Given the description of an element on the screen output the (x, y) to click on. 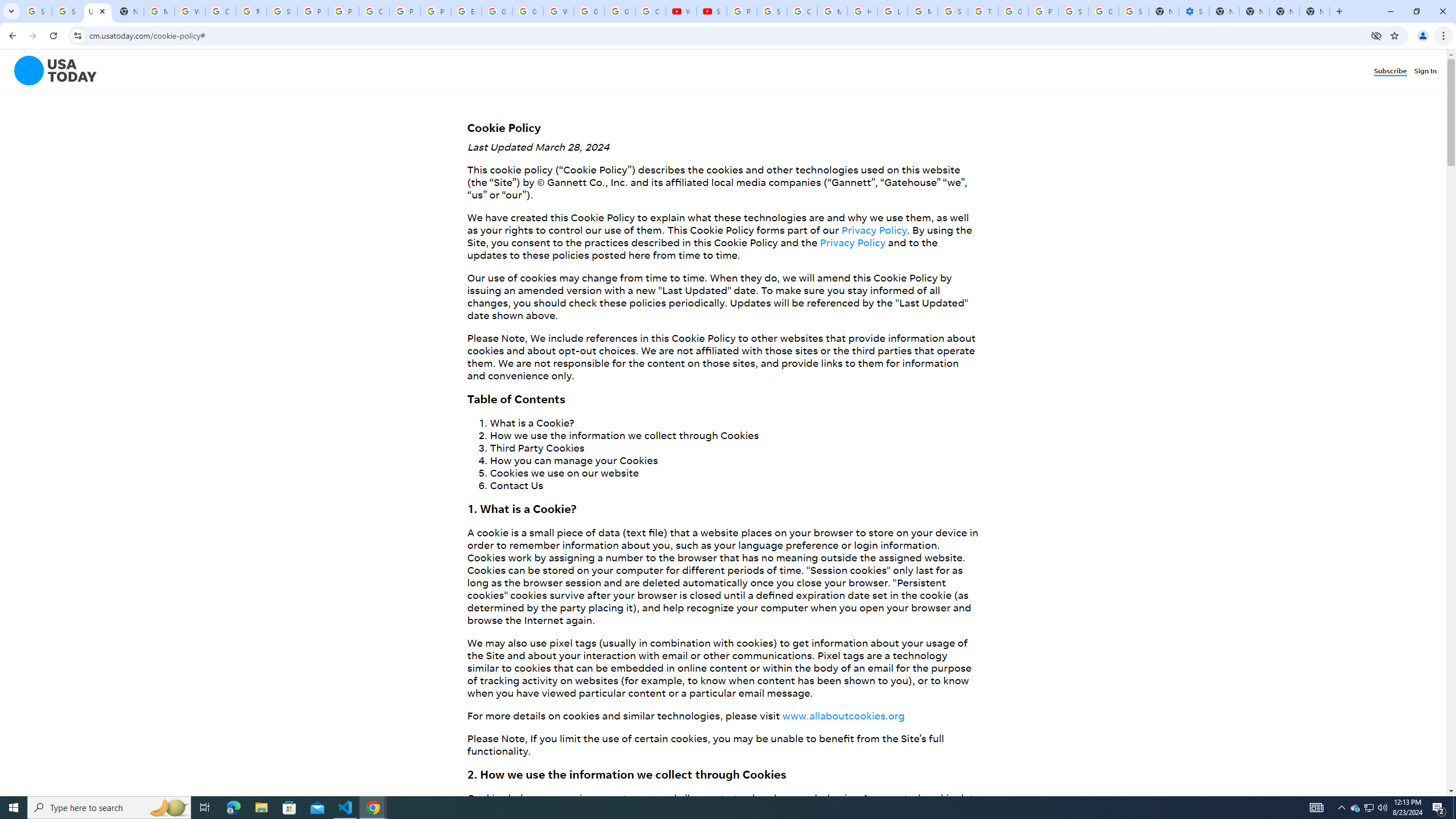
Sign in - Google Accounts (1133, 11)
Subscribe (1392, 70)
Trusted Information and Content - Google Safety Center (982, 11)
Third Party Cookies (537, 447)
Create your Google Account (220, 11)
What is a Cookie? (532, 422)
Subscriptions - YouTube (711, 11)
To get missing image descriptions, open the context menu. (48, 70)
